Given the description of an element on the screen output the (x, y) to click on. 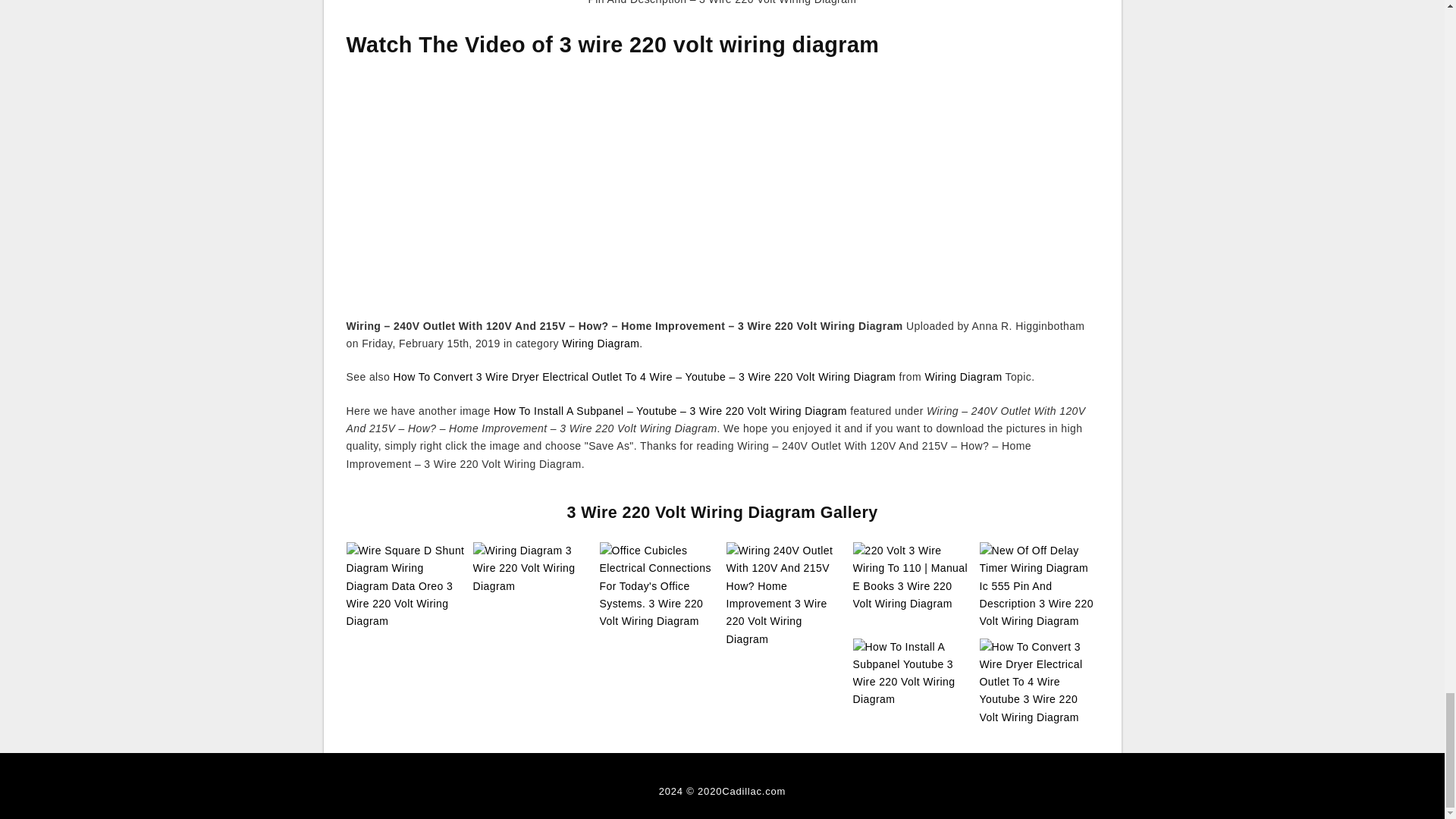
Wiring Diagram (600, 343)
Wiring Diagram (962, 377)
Wiring Diagram   3 Wire 220 Volt Wiring Diagram (532, 568)
Wiring Diagram   3 Wire 220 Volt Wiring Diagram (532, 567)
2020Cadillac.com (741, 790)
